Given the description of an element on the screen output the (x, y) to click on. 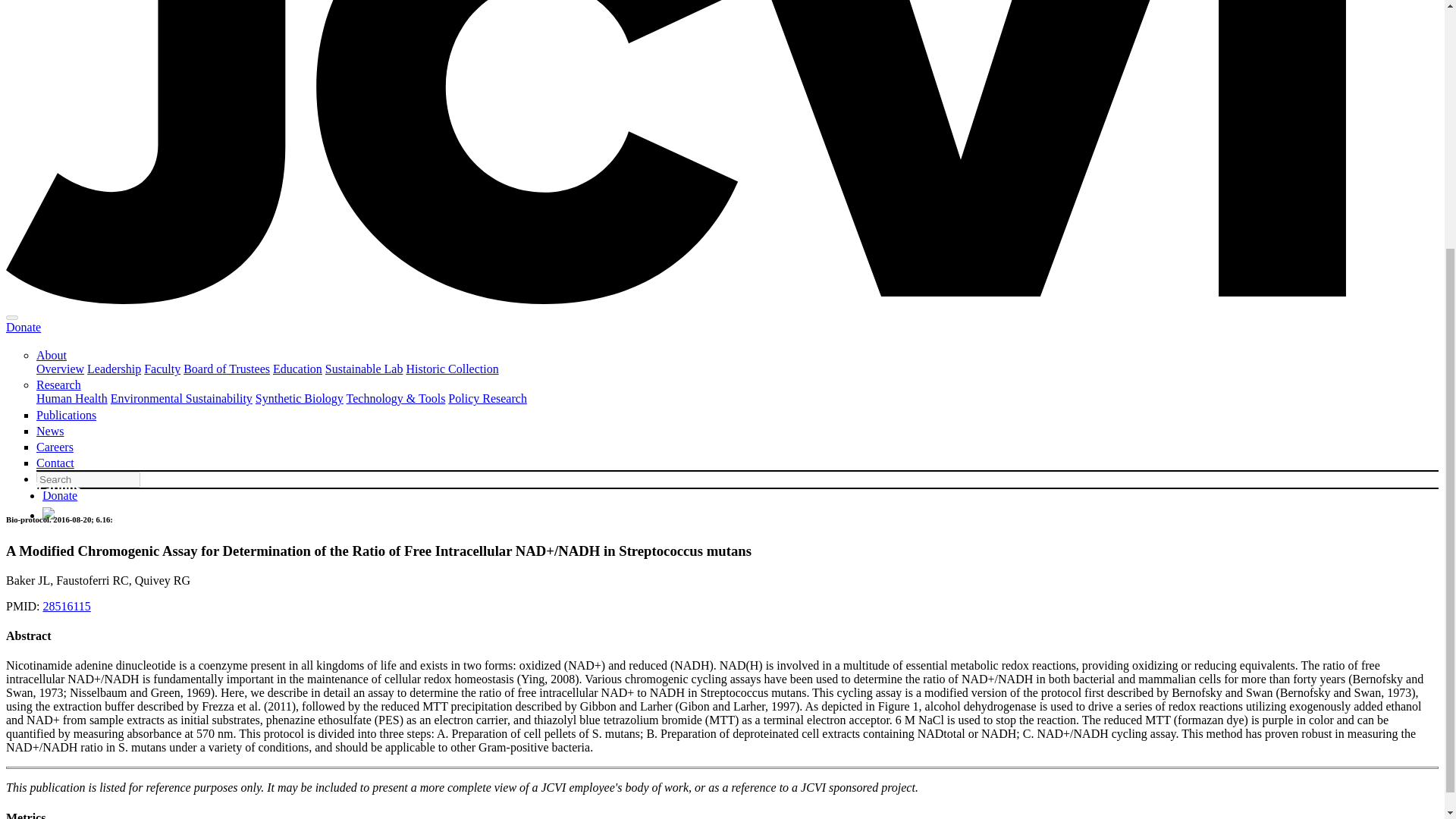
28516115 (66, 605)
Historic Collection (451, 368)
Education (297, 368)
About (51, 354)
Environmental Sustainability (180, 398)
Contact (55, 462)
Sustainable Lab (363, 368)
Synthetic Biology (299, 398)
Human Health (71, 398)
Research (58, 384)
